Given the description of an element on the screen output the (x, y) to click on. 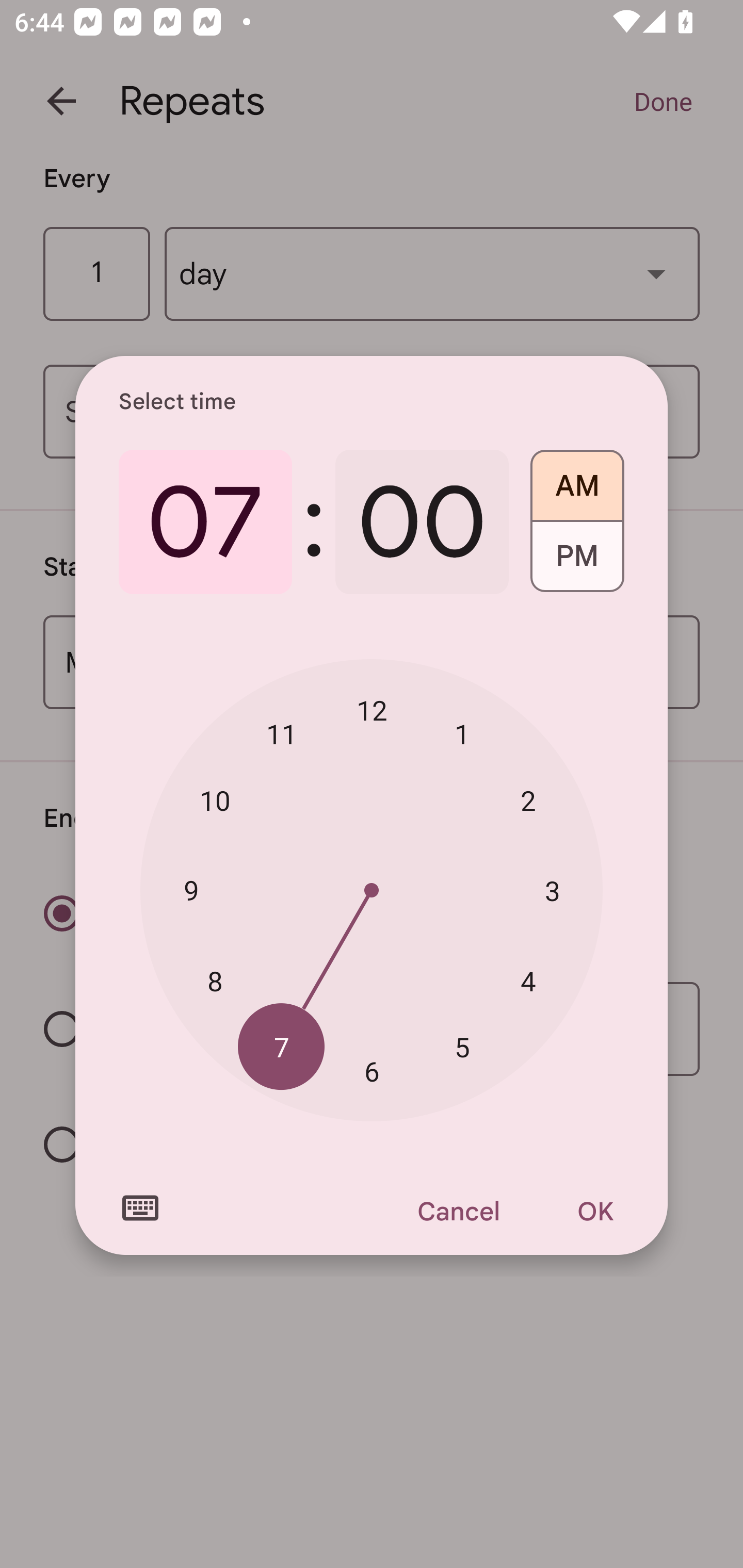
AM (577, 478)
07 7 o'clock (204, 522)
00 0 minutes (421, 522)
PM (577, 563)
12 12 o'clock (371, 710)
11 11 o'clock (281, 733)
1 1 o'clock (462, 733)
10 10 o'clock (214, 800)
2 2 o'clock (528, 800)
9 9 o'clock (190, 889)
3 3 o'clock (551, 890)
8 8 o'clock (214, 980)
4 4 o'clock (528, 980)
7 7 o'clock (281, 1046)
5 5 o'clock (462, 1046)
6 6 o'clock (371, 1071)
Switch to text input mode for the time input. (140, 1208)
Cancel (458, 1211)
OK (595, 1211)
